Given the description of an element on the screen output the (x, y) to click on. 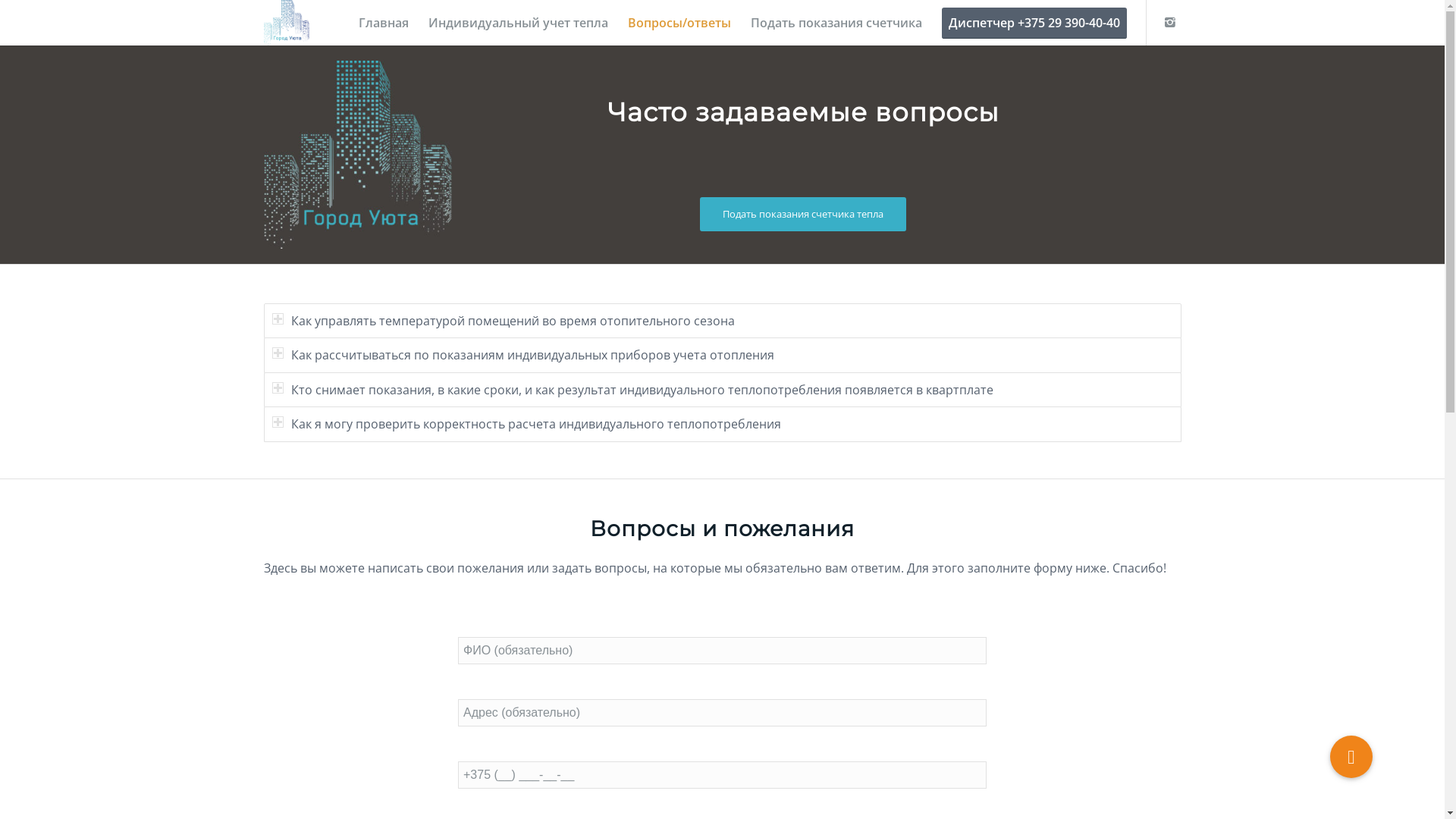
Instagram Element type: hover (1169, 21)
